Given the description of an element on the screen output the (x, y) to click on. 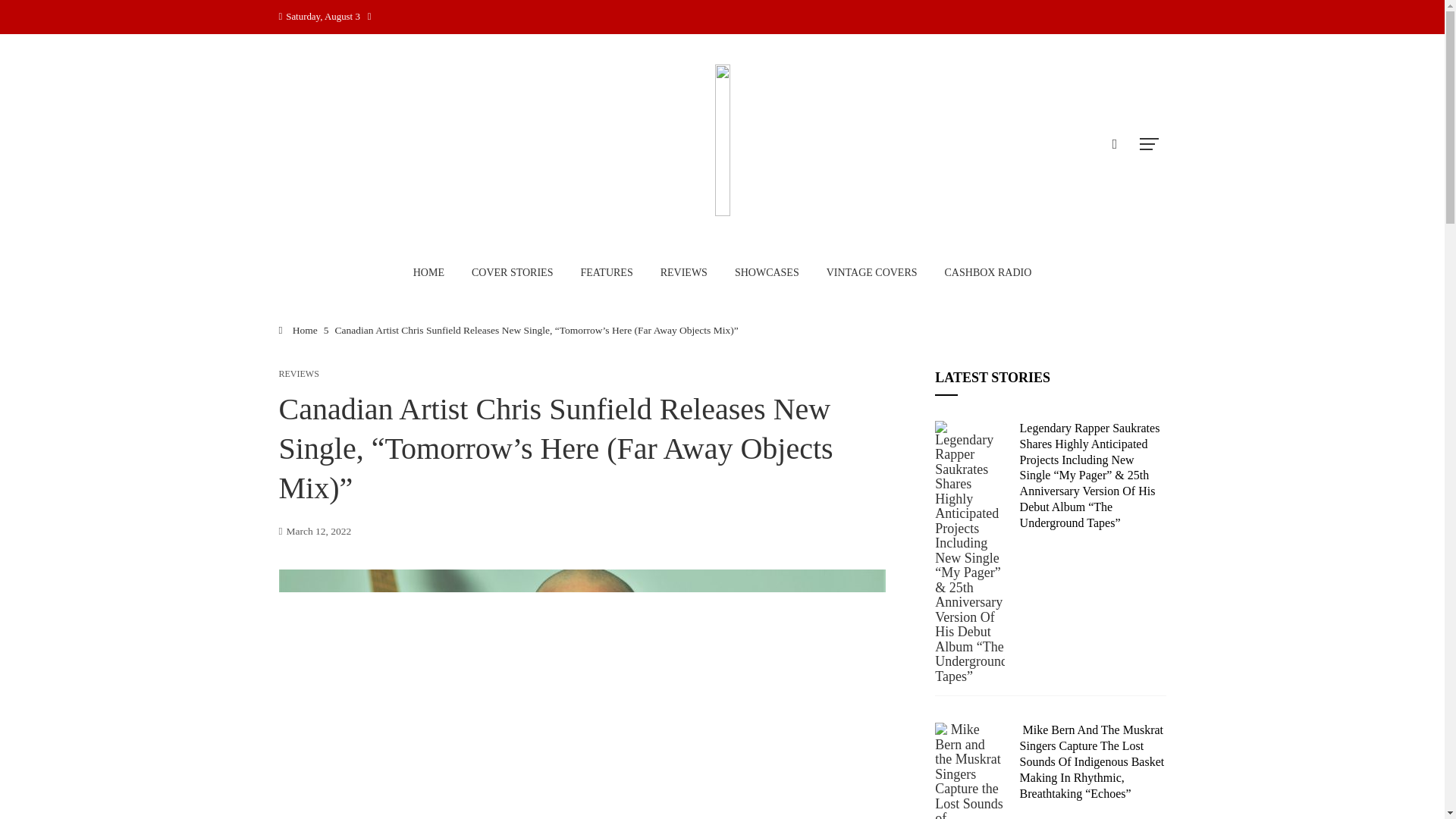
VINTAGE COVERS (871, 272)
SHOWCASES (766, 272)
REVIEWS (684, 272)
COVER STORIES (512, 272)
Home (298, 329)
CASHBOX RADIO (988, 272)
FEATURES (606, 272)
REVIEWS (298, 373)
HOME (428, 272)
